Given the description of an element on the screen output the (x, y) to click on. 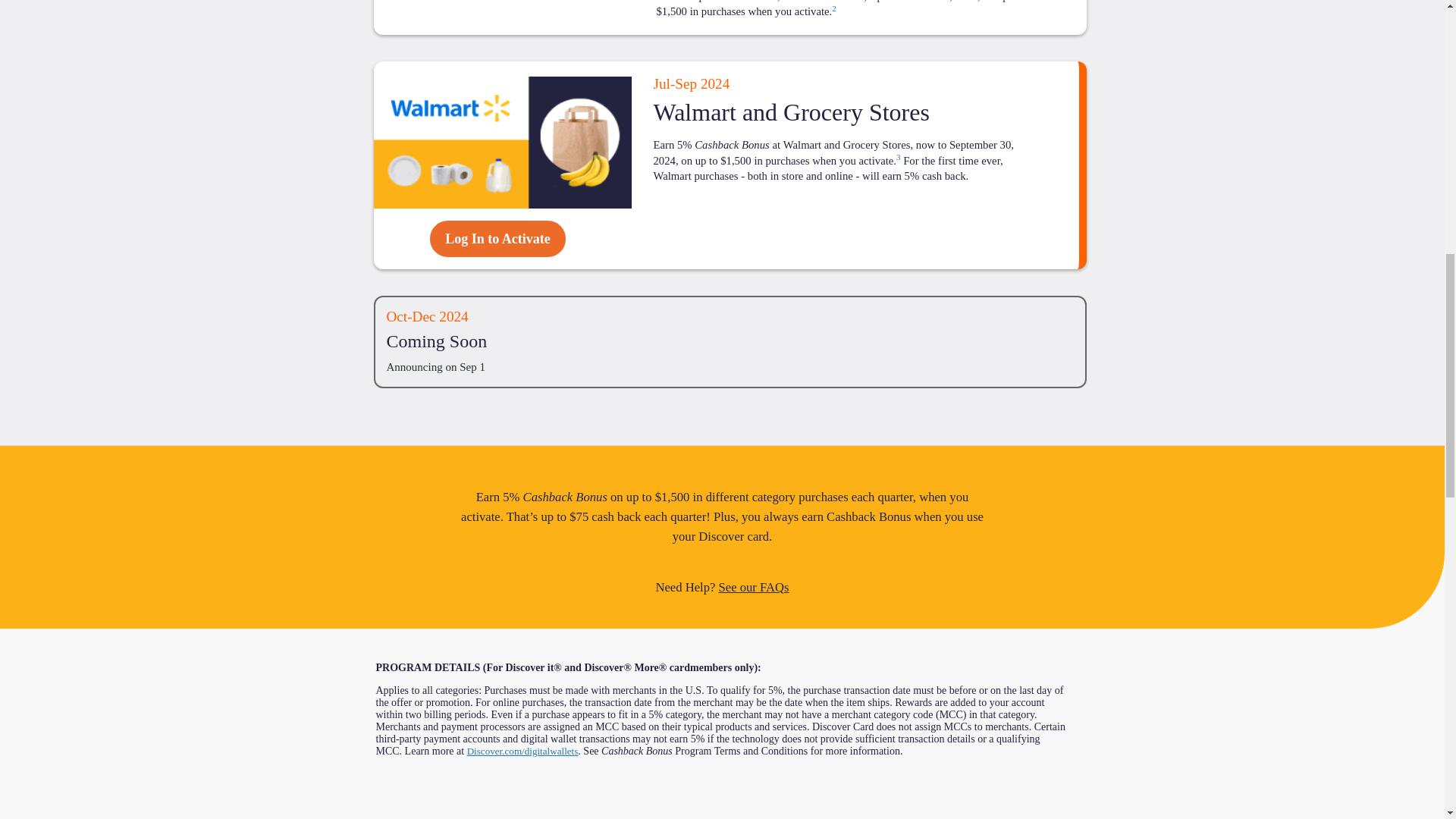
October (397, 316)
July (661, 83)
December (423, 316)
September (686, 83)
